Given the description of an element on the screen output the (x, y) to click on. 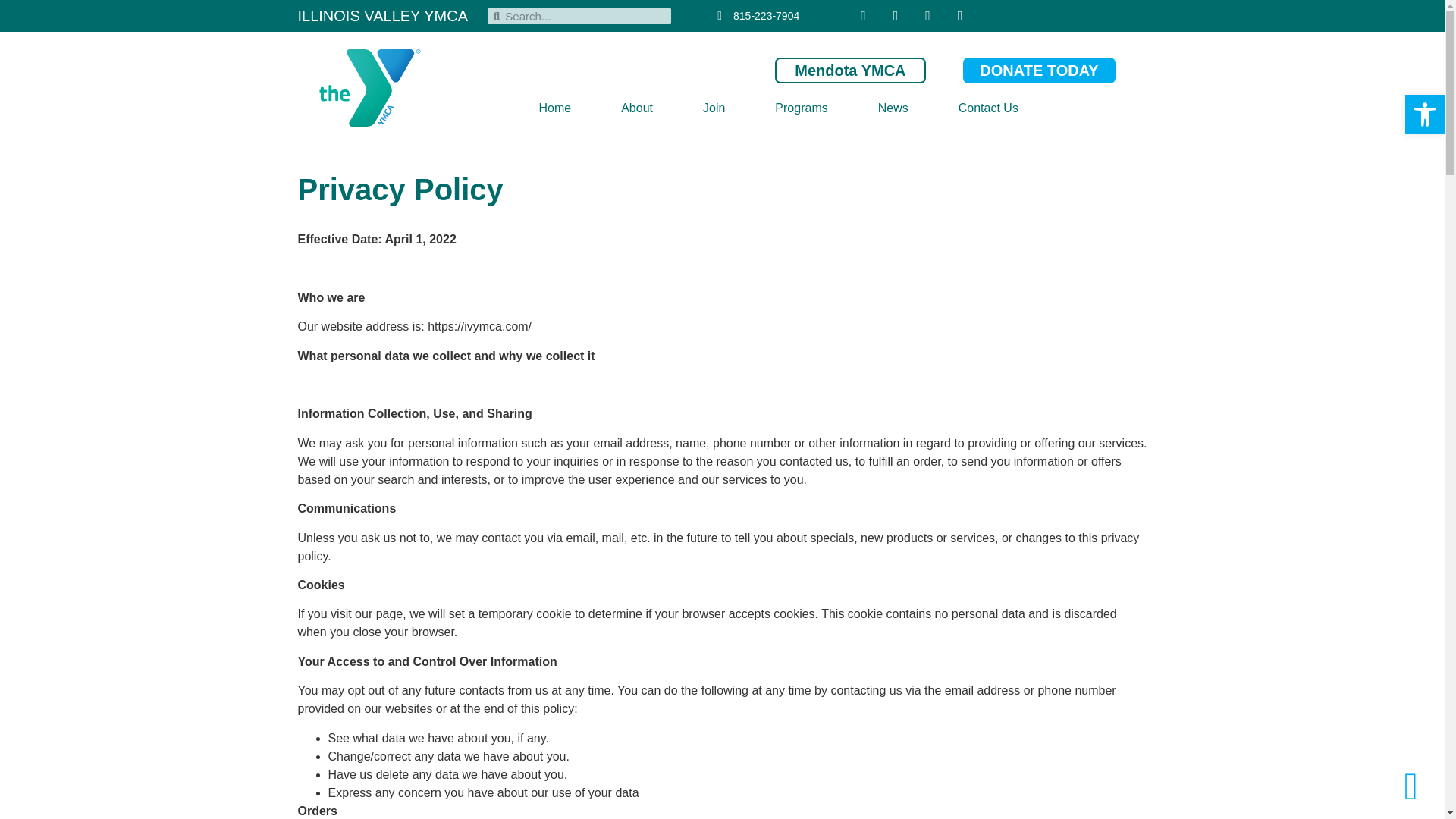
815-223-7904 (752, 15)
Accessibility Tools (1424, 114)
